Given the description of an element on the screen output the (x, y) to click on. 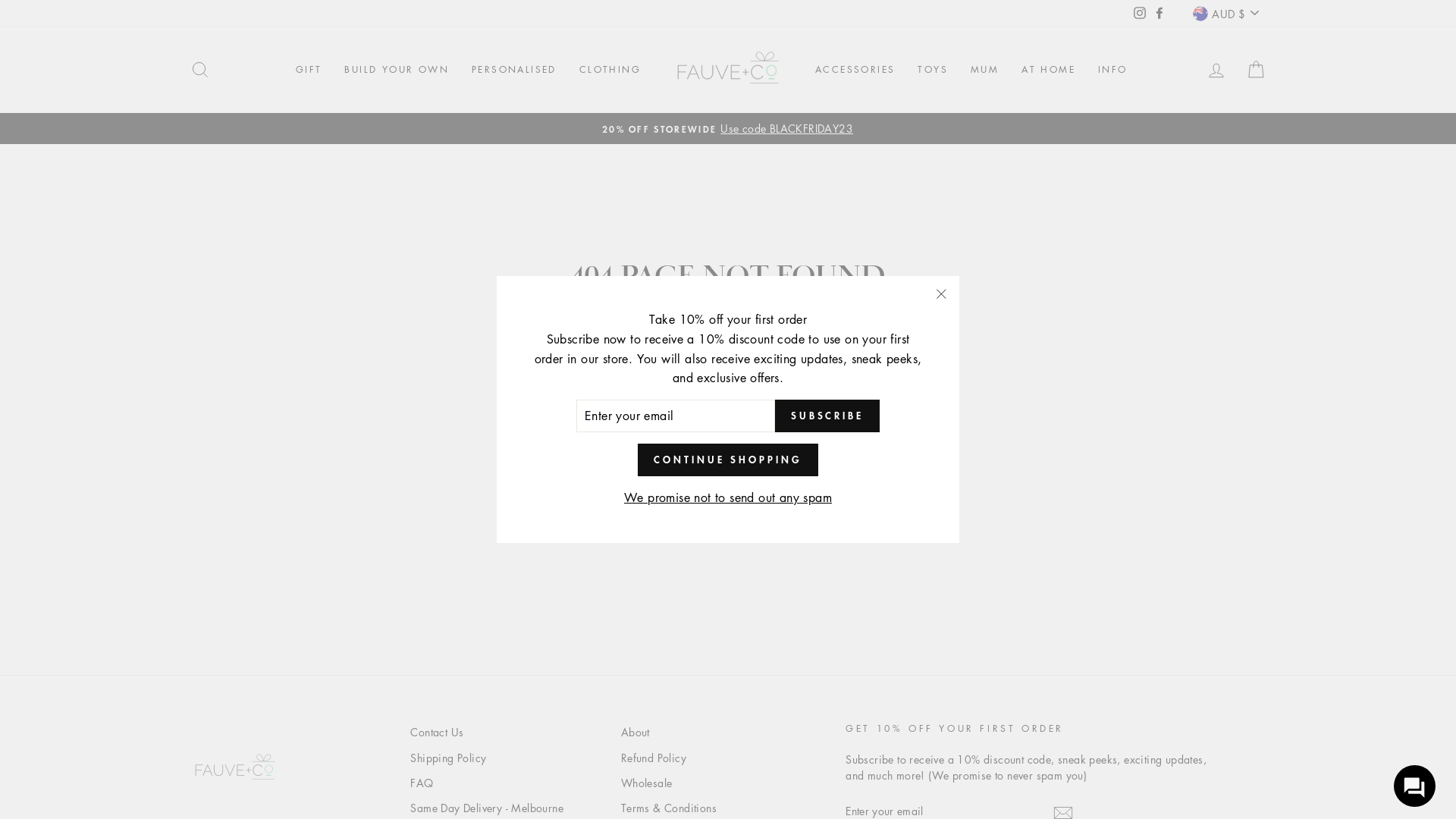
ACCESSORIES Element type: text (854, 69)
CONTINUE SHOPPING Element type: text (727, 459)
CLOTHING Element type: text (609, 69)
Wholesale Element type: text (646, 782)
GIFT Element type: text (308, 69)
MUM Element type: text (984, 69)
Skip to content Element type: text (0, 0)
"Close (esc)" Element type: text (940, 294)
LOG IN Element type: text (1216, 69)
TOYS Element type: text (932, 69)
Facebook Element type: text (1159, 12)
AT HOME Element type: text (1048, 69)
Refund Policy Element type: text (653, 757)
AUD $ Element type: text (1225, 13)
BUILD YOUR OWN Element type: text (396, 69)
Continue shopping Element type: text (727, 335)
Contact Us Element type: text (436, 732)
Shipping Policy Element type: text (448, 757)
We promise not to send out any spam Element type: text (727, 497)
PERSONALISED Element type: text (513, 69)
SEARCH Element type: text (199, 69)
SUBSCRIBE Element type: text (827, 416)
INFO Element type: text (1112, 69)
CART Element type: text (1255, 69)
About Element type: text (635, 732)
20% OFF STOREWIDEUse code BLACKFRIDAY23 Element type: text (727, 128)
Instagram Element type: text (1139, 12)
FAQ Element type: text (421, 782)
